Given the description of an element on the screen output the (x, y) to click on. 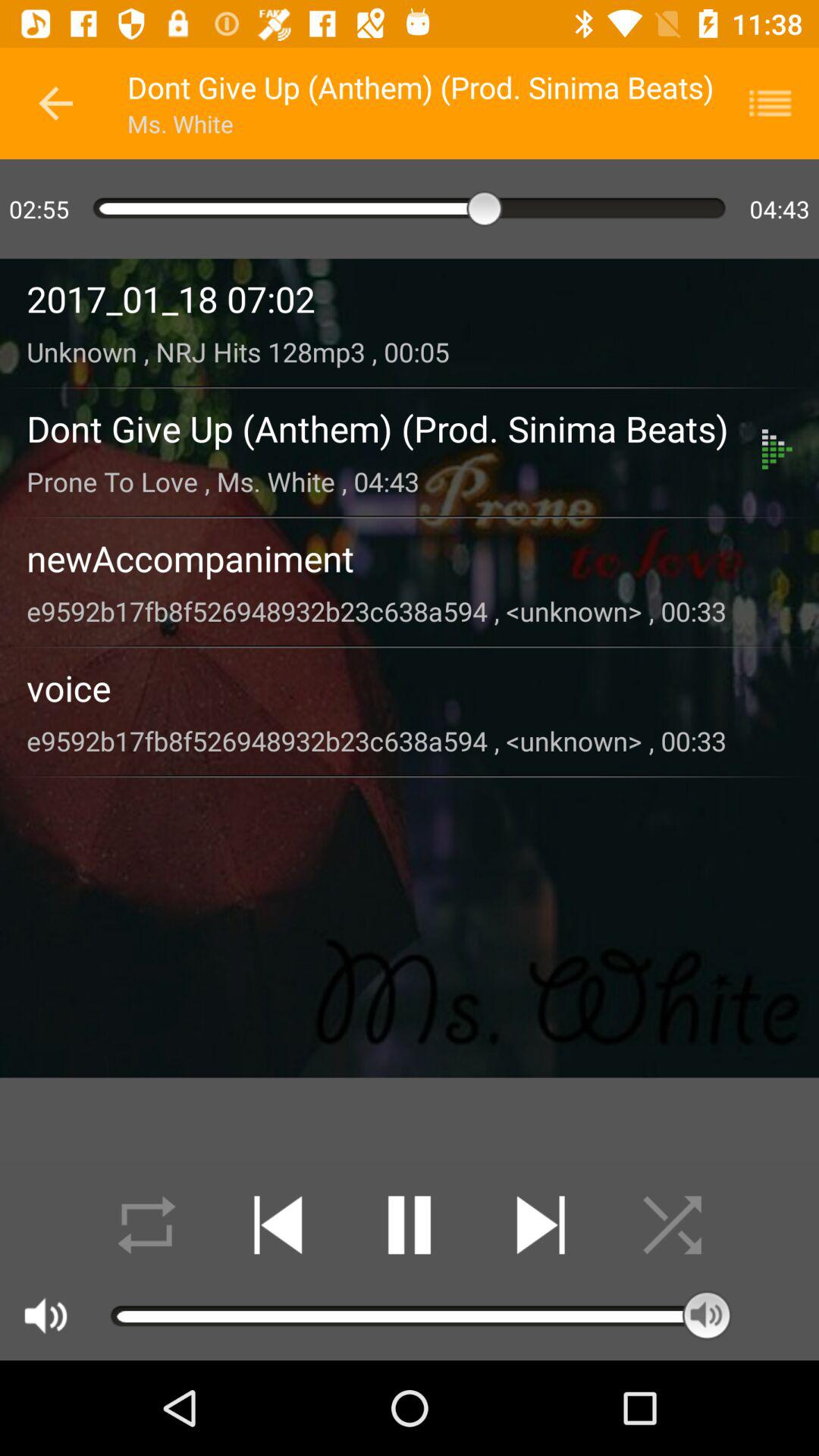
flip until 2017_01_18 07:02 icon (409, 298)
